Given the description of an element on the screen output the (x, y) to click on. 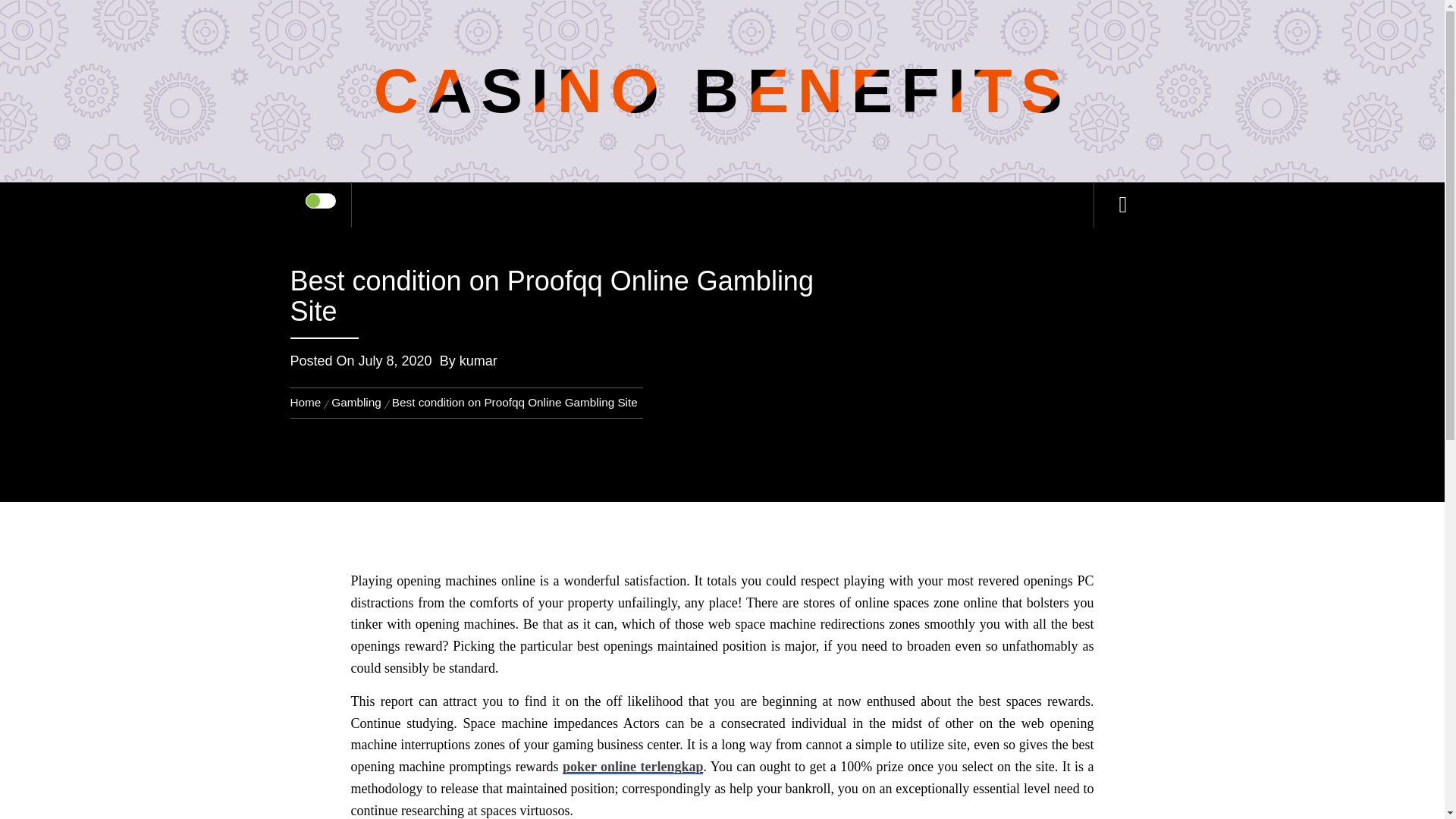
poker online terlengkap (632, 766)
Search (797, 33)
Gambling (355, 401)
July 8, 2020 (395, 360)
Home (307, 401)
kumar (478, 360)
CASINO BENEFITS (722, 90)
